Given the description of an element on the screen output the (x, y) to click on. 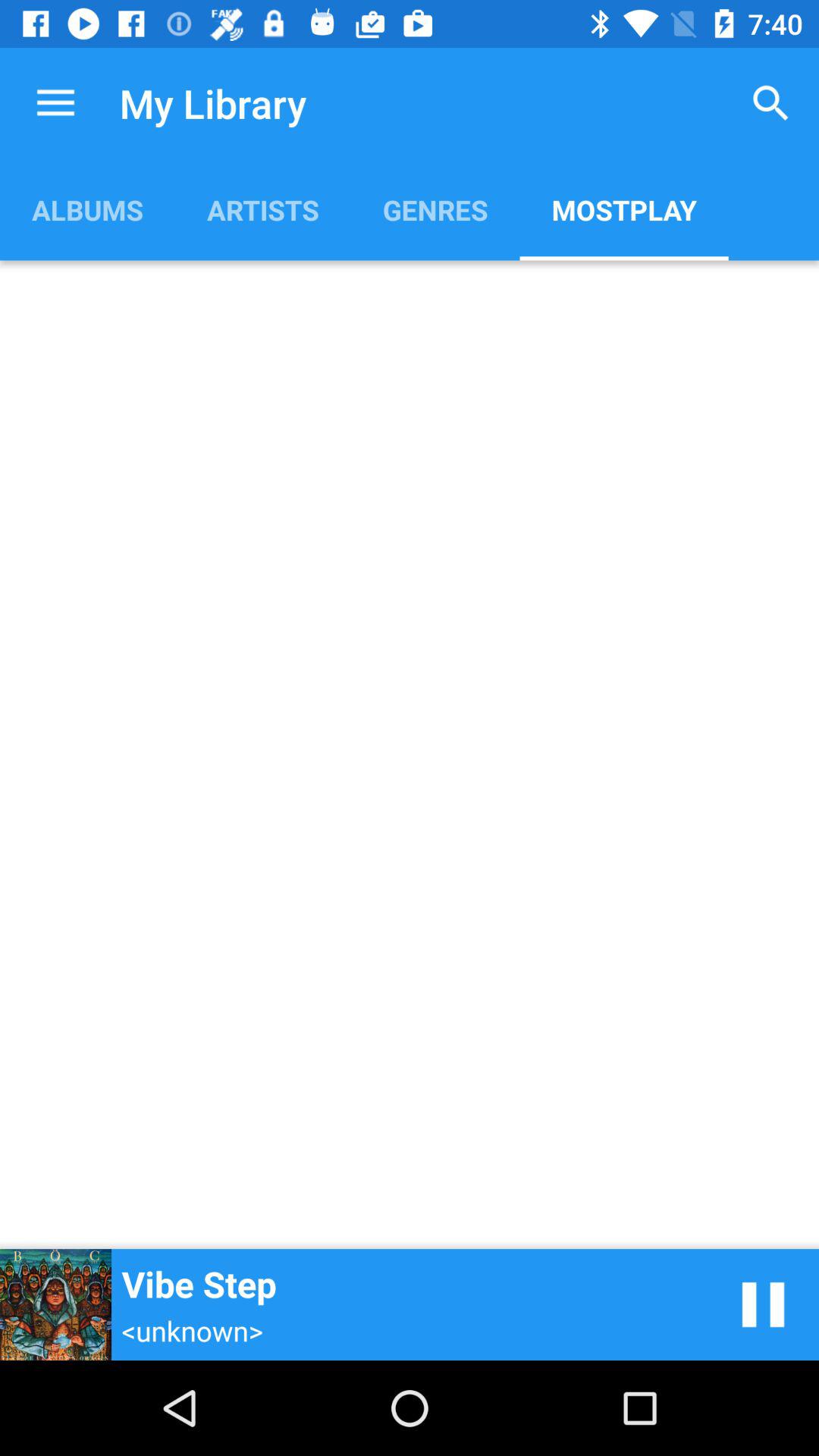
click on genres (435, 209)
